Given the description of an element on the screen output the (x, y) to click on. 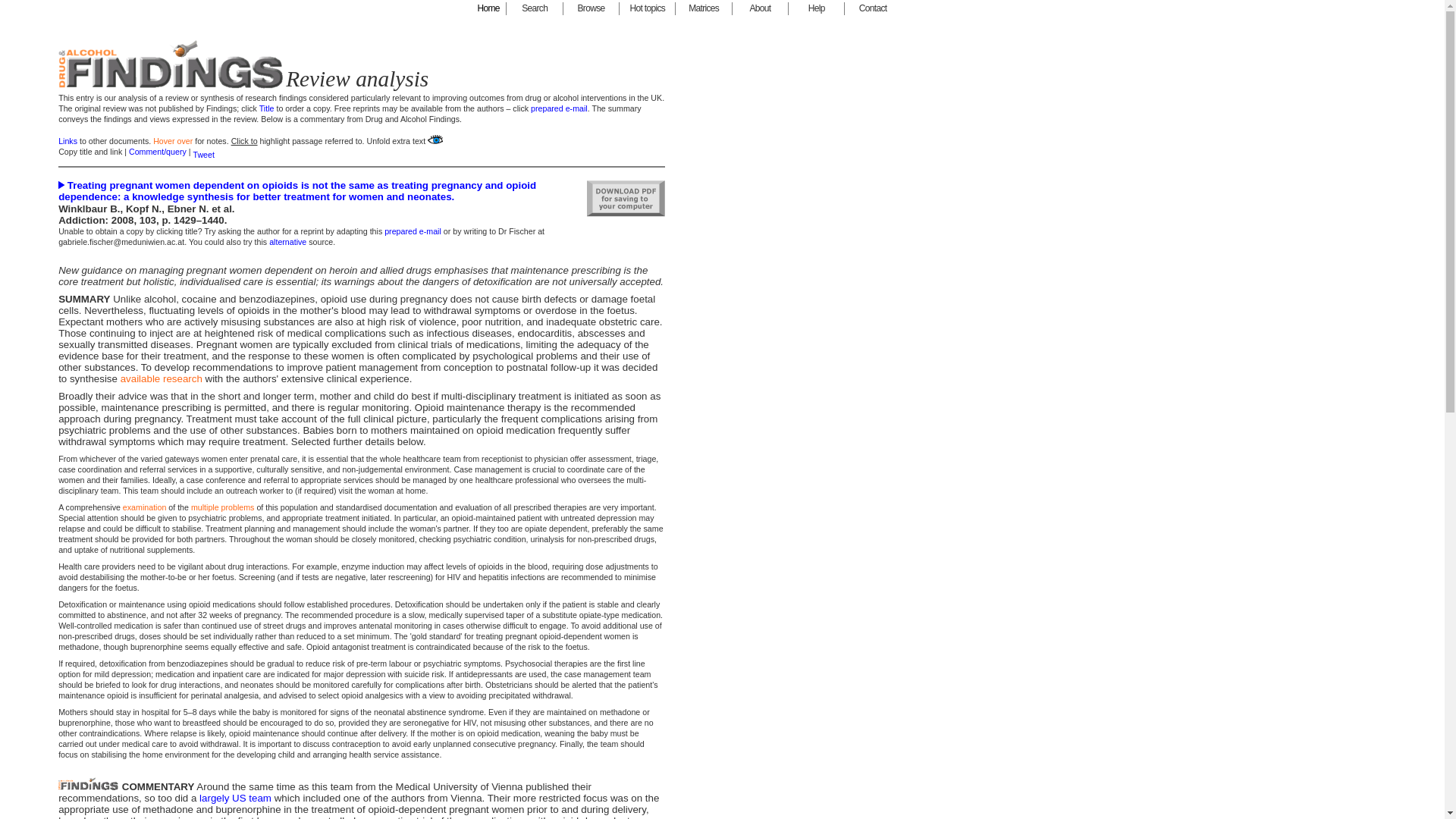
How to find the research you are looking for (534, 8)
available research (162, 378)
Seminal and key treatment research (703, 8)
Copy title and link (90, 151)
Important and controversial issues (647, 8)
Tweet (203, 153)
multiple problems (223, 506)
prepared e-mail (412, 230)
Effectiveness Bank home page. Opens new window (488, 8)
